Given the description of an element on the screen output the (x, y) to click on. 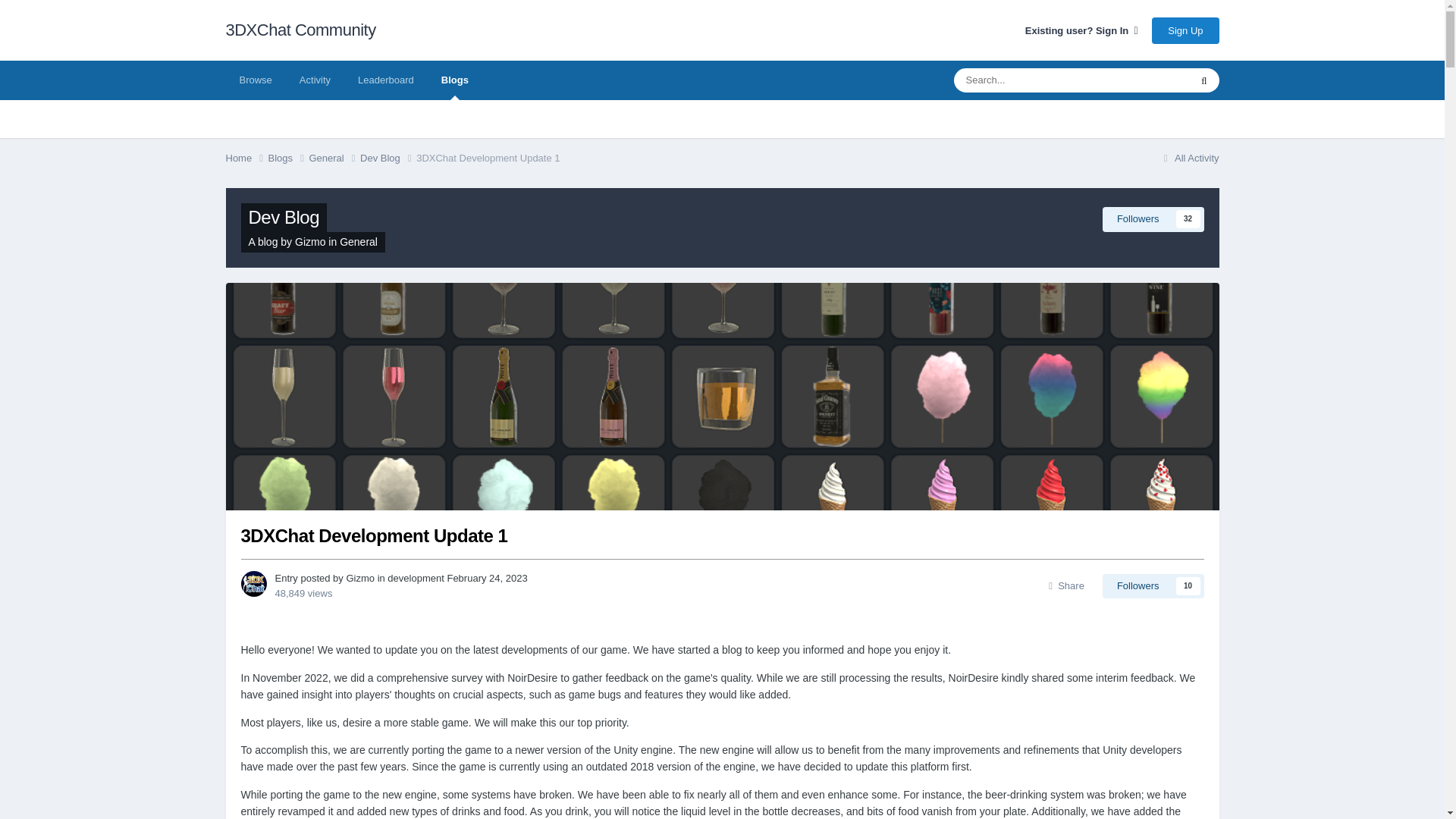
Sign Up (1184, 29)
Sign in to follow this (1153, 218)
Go to the blog Dev Blog (284, 217)
Sign in to follow this (1153, 586)
development (415, 577)
Activity (314, 79)
Gizmo (360, 577)
Dev Blog (284, 217)
Blogs (287, 158)
General (333, 158)
